Given the description of an element on the screen output the (x, y) to click on. 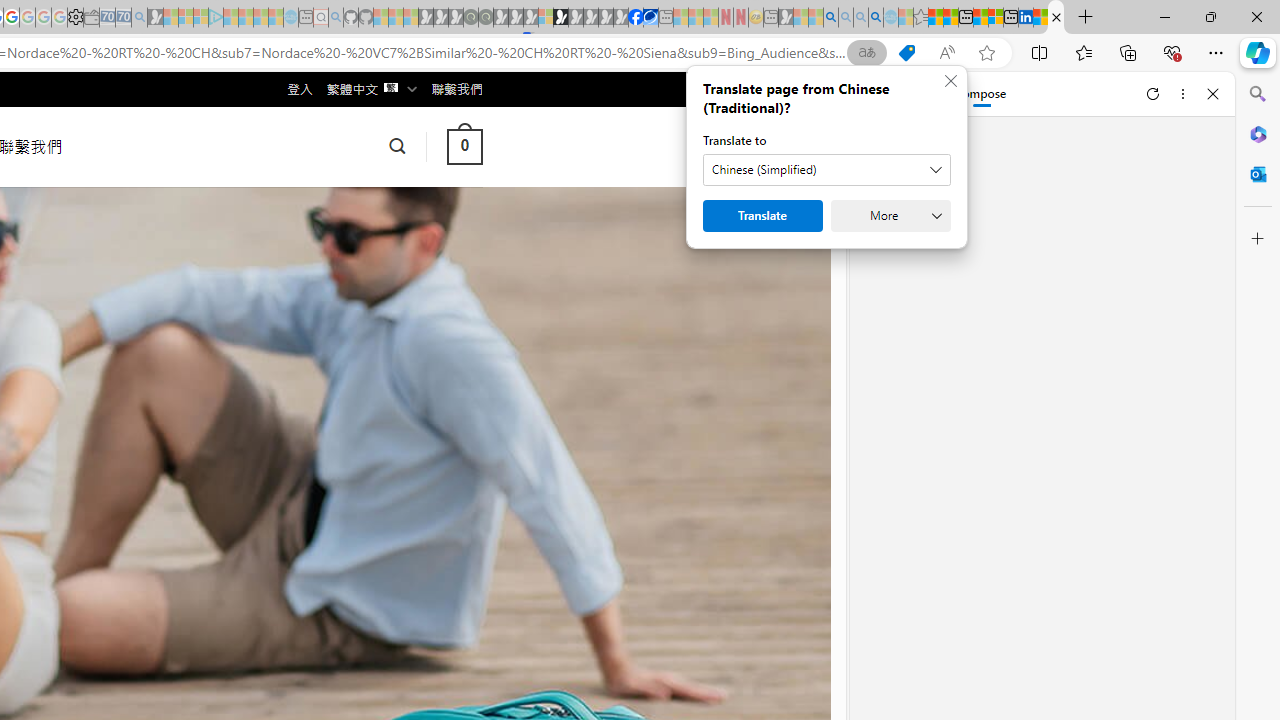
MSN - Sleeping (786, 17)
LinkedIn (1025, 17)
Nordace - Summer Adventures 2024 (1055, 17)
github - Search - Sleeping (336, 17)
Bing Real Estate - Home sales and rental listings - Sleeping (139, 17)
Chat (884, 93)
Sign in to your account - Sleeping (545, 17)
Show translate options (867, 53)
